Given the description of an element on the screen output the (x, y) to click on. 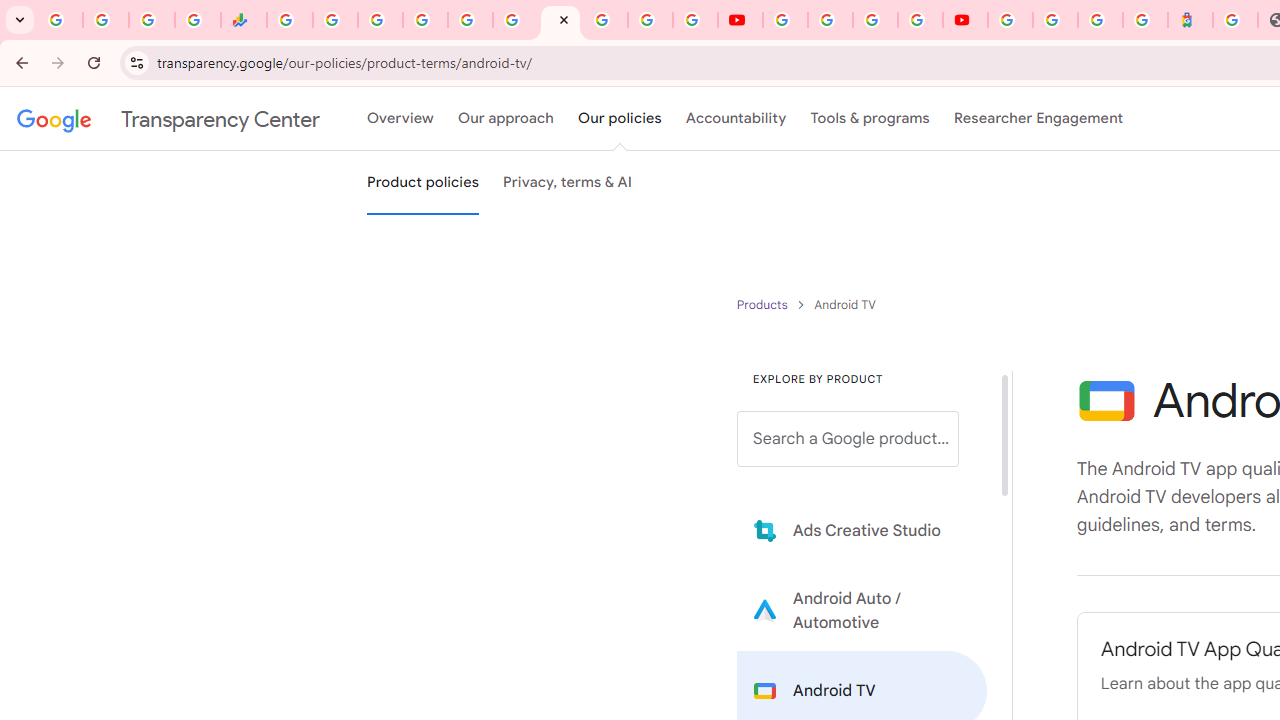
Accountability (735, 119)
Google Account Help (829, 20)
Tools & programs (869, 119)
Transparency Center (167, 119)
Atour Hotel - Google hotels (1190, 20)
Privacy Checkup (695, 20)
Learn more about Android Auto (862, 610)
Android TV Policies and Guidelines - Transparency Center (559, 20)
Sign in - Google Accounts (1055, 20)
Researcher Engagement (1038, 119)
